Given the description of an element on the screen output the (x, y) to click on. 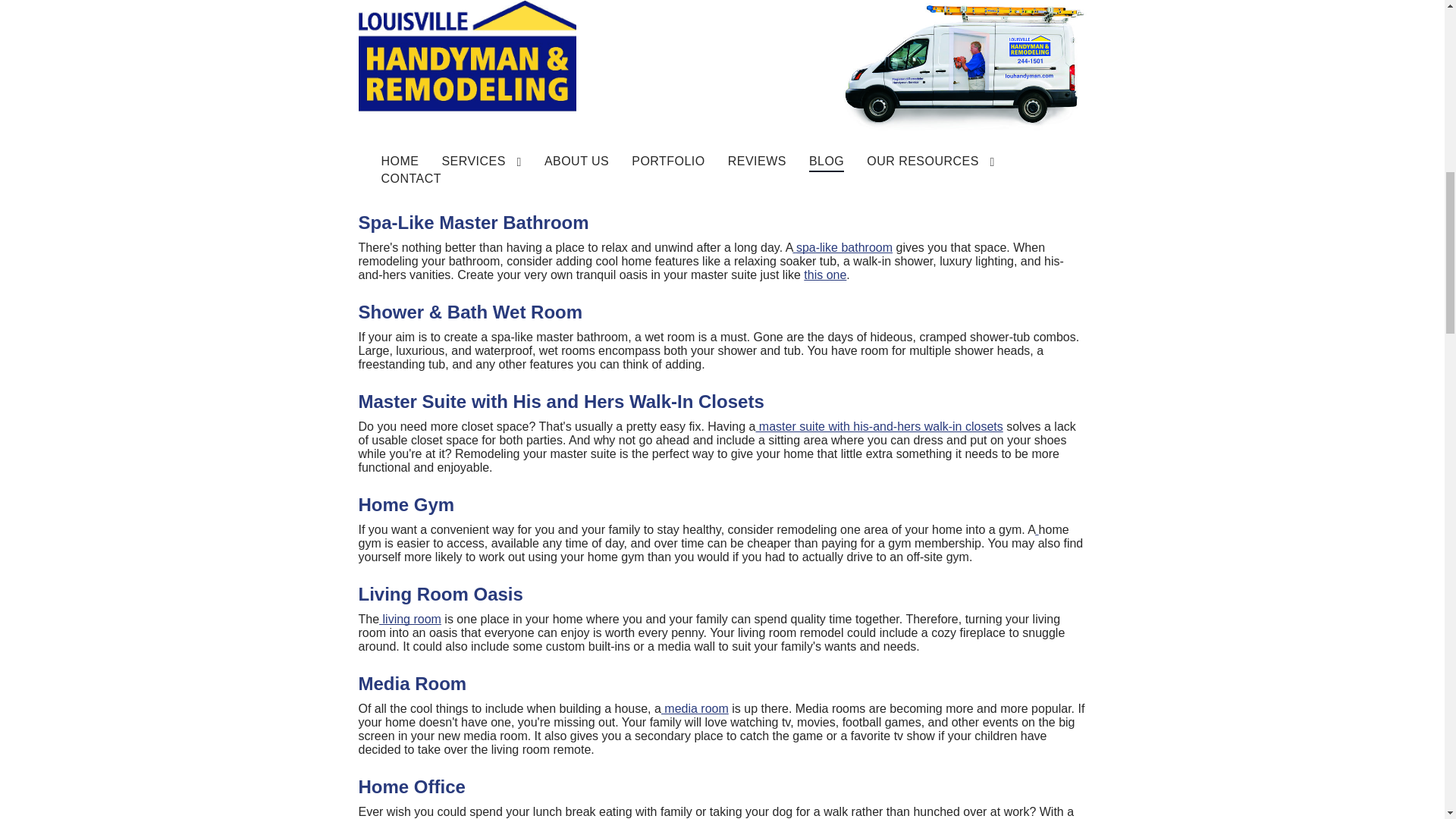
this one (824, 274)
 living room (409, 618)
 kitchen (399, 54)
 media room (695, 707)
spa-like bathroom (844, 246)
 master suite with his-and-hers walk-in closets (879, 426)
